Given the description of an element on the screen output the (x, y) to click on. 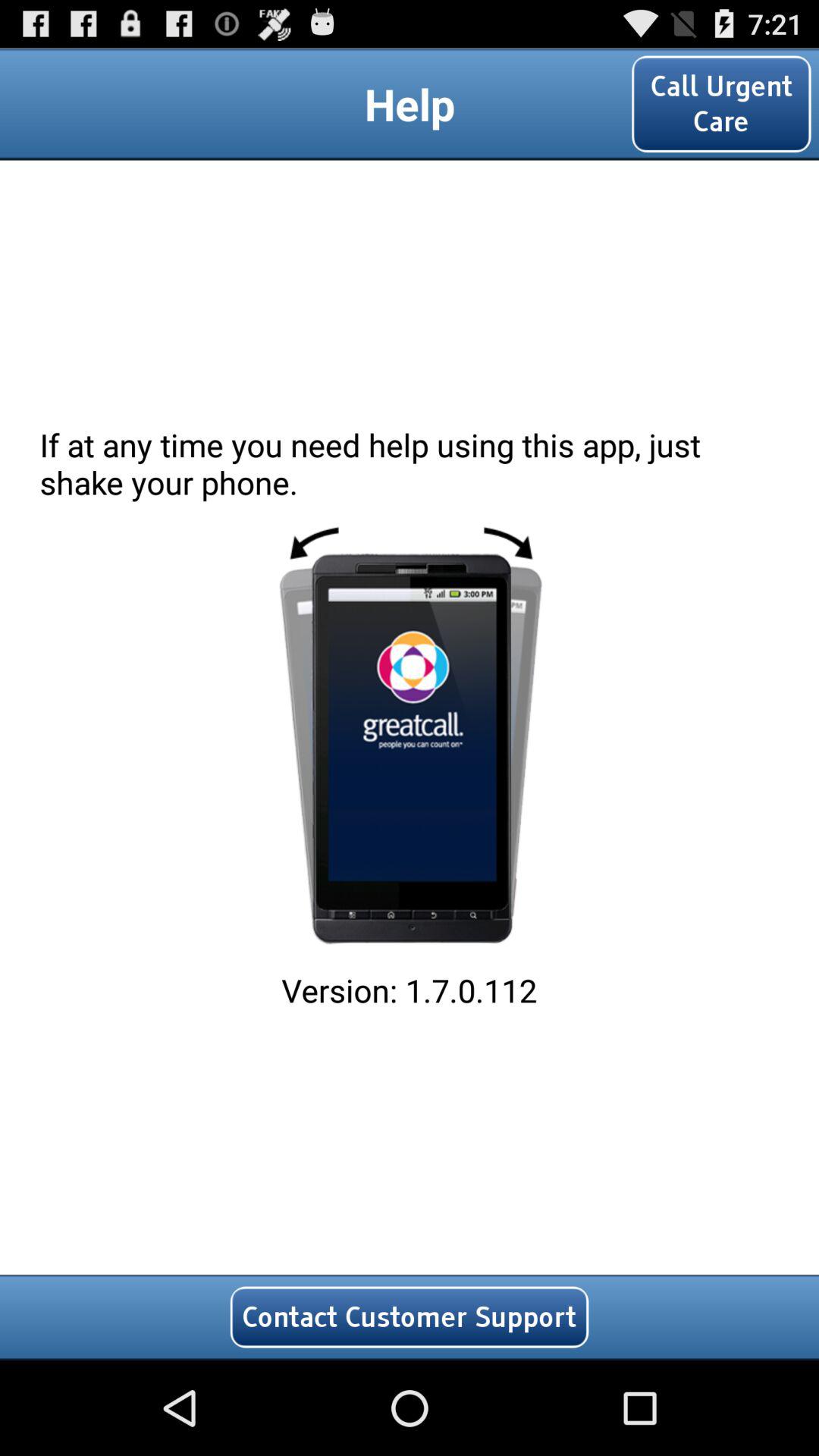
launch call urgent care (721, 103)
